Given the description of an element on the screen output the (x, y) to click on. 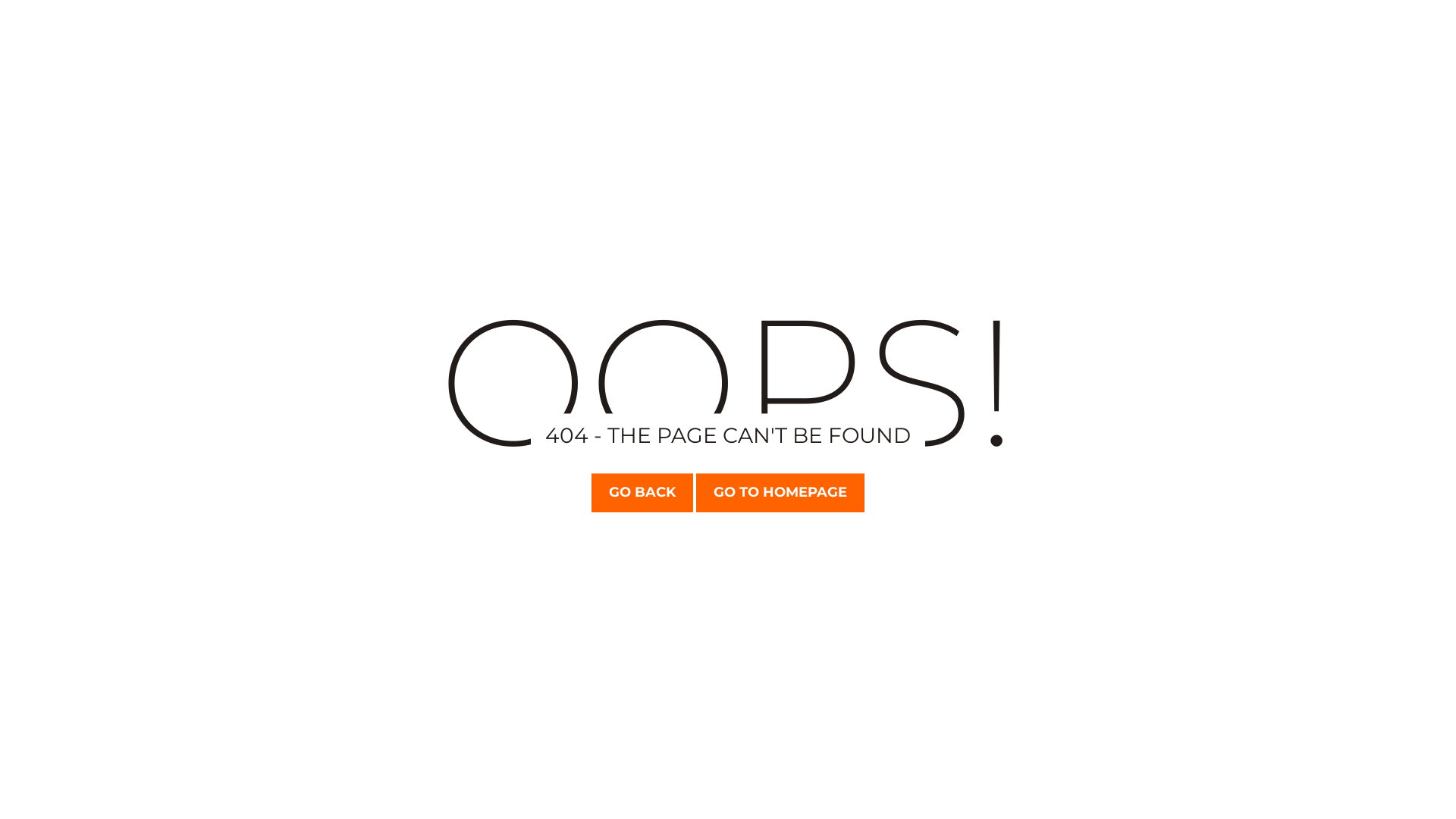
GO TO HOMEPAGE Element type: text (780, 492)
GO BACK Element type: text (642, 492)
